Given the description of an element on the screen output the (x, y) to click on. 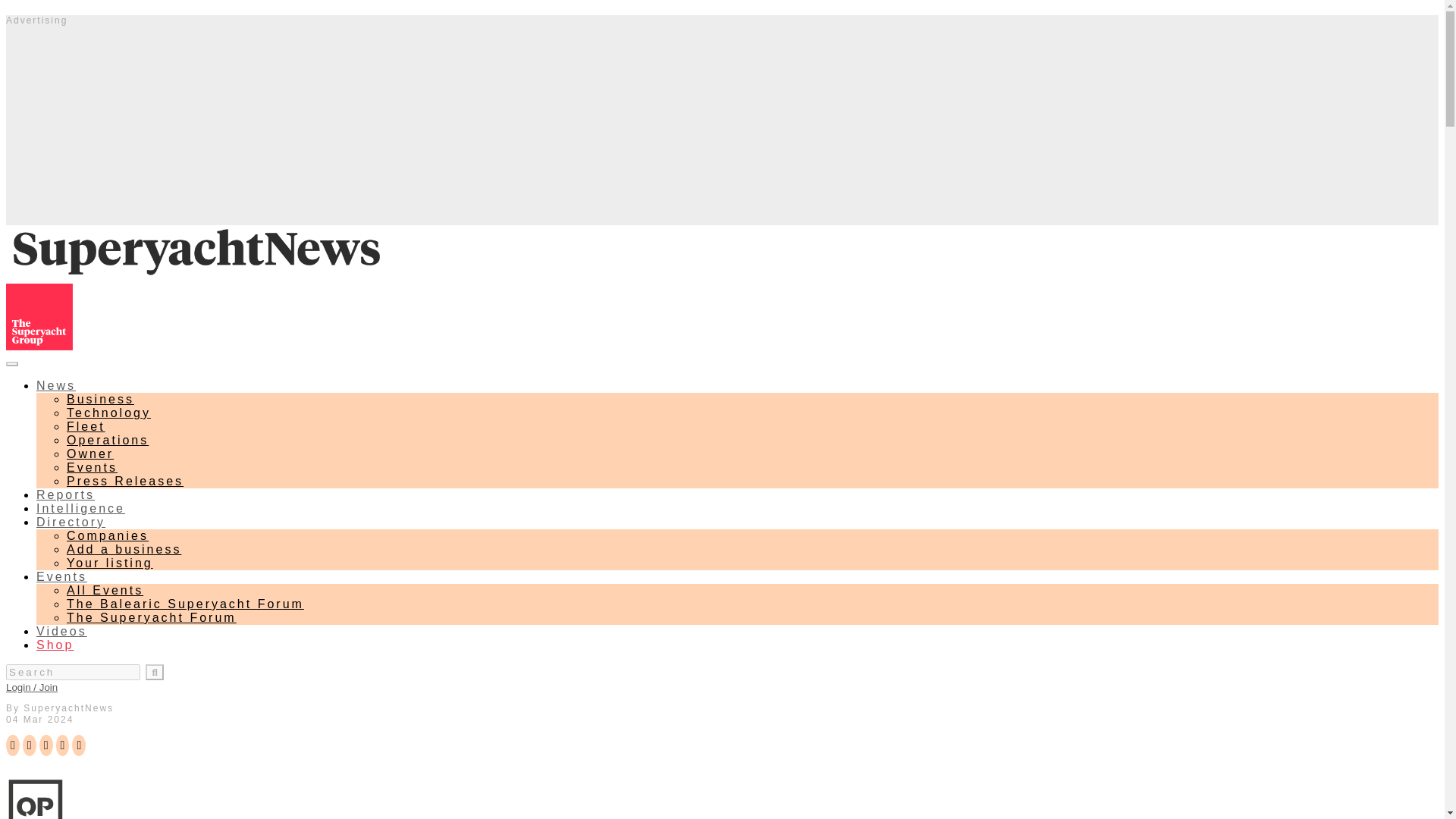
Events (61, 576)
Shop (55, 644)
Reports (65, 494)
Your listing (109, 562)
Intelligence (80, 508)
All Events (104, 590)
Add a business (123, 549)
Business (99, 399)
Companies (107, 535)
Fleet (85, 426)
Videos (61, 631)
Press Releases (124, 481)
The Superyacht Forum (150, 617)
Owner (89, 453)
